Given the description of an element on the screen output the (x, y) to click on. 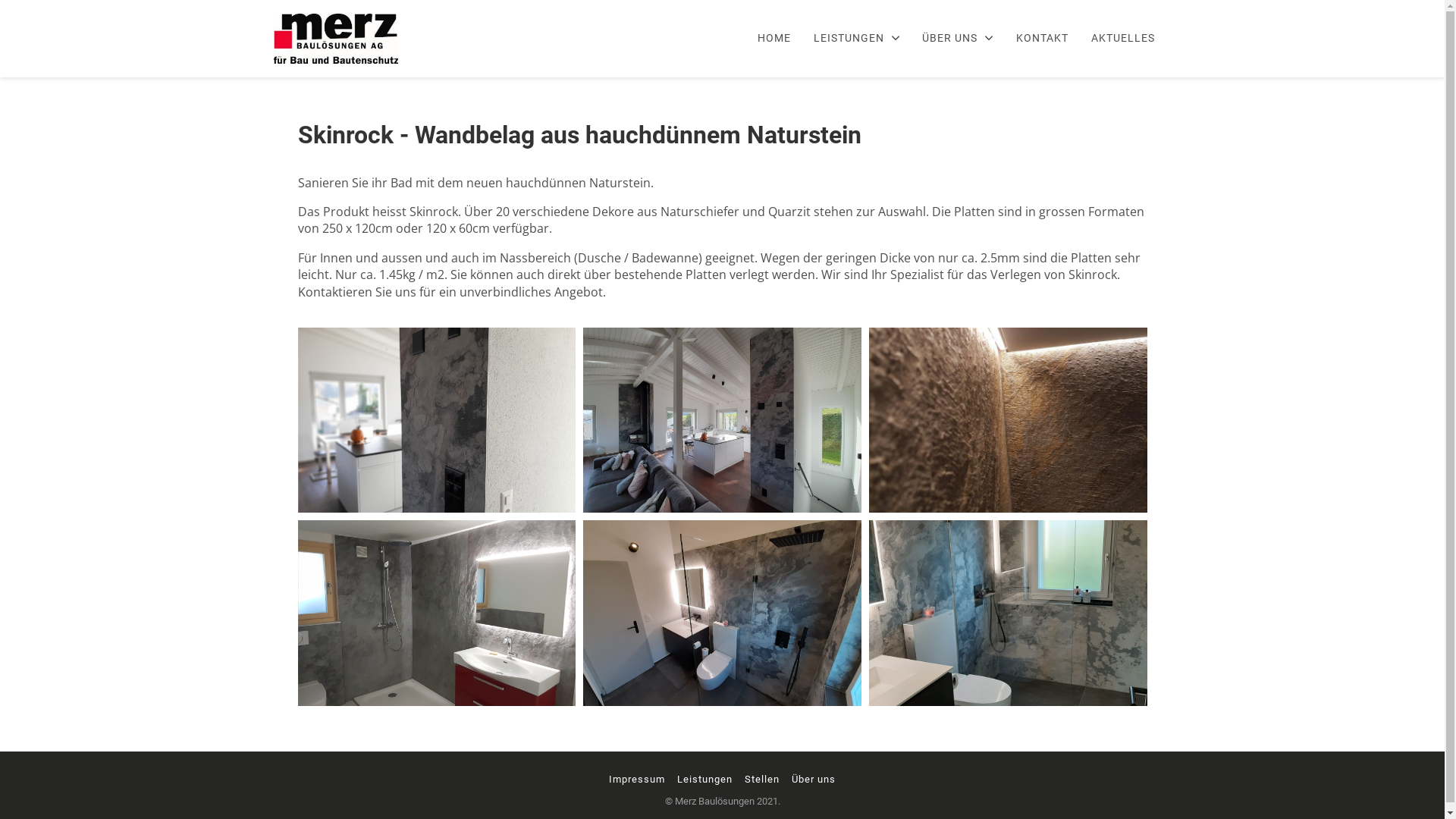
Impressum Element type: text (636, 778)
HOME Element type: text (774, 38)
AKTUELLES Element type: text (1122, 38)
LEISTUNGEN Element type: text (856, 38)
Leistungen Element type: text (704, 778)
Stellen Element type: text (761, 778)
KONTAKT Element type: text (1041, 38)
